Given the description of an element on the screen output the (x, y) to click on. 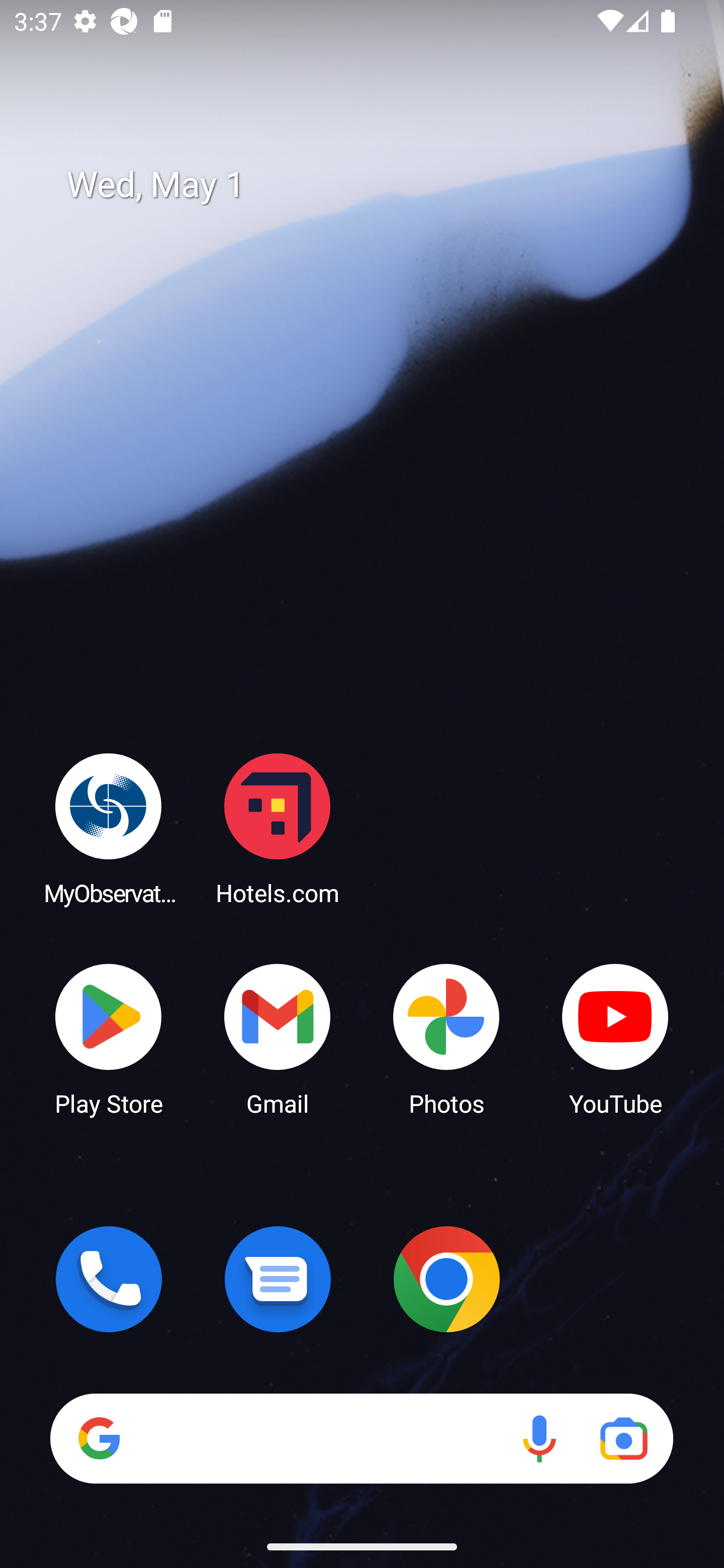
Wed, May 1 (375, 184)
MyObservatory (108, 828)
Hotels.com (277, 828)
Play Store (108, 1038)
Gmail (277, 1038)
Photos (445, 1038)
YouTube (615, 1038)
Phone (108, 1279)
Messages (277, 1279)
Chrome (446, 1279)
Search Voice search Google Lens (361, 1438)
Voice search (539, 1438)
Google Lens (623, 1438)
